Given the description of an element on the screen output the (x, y) to click on. 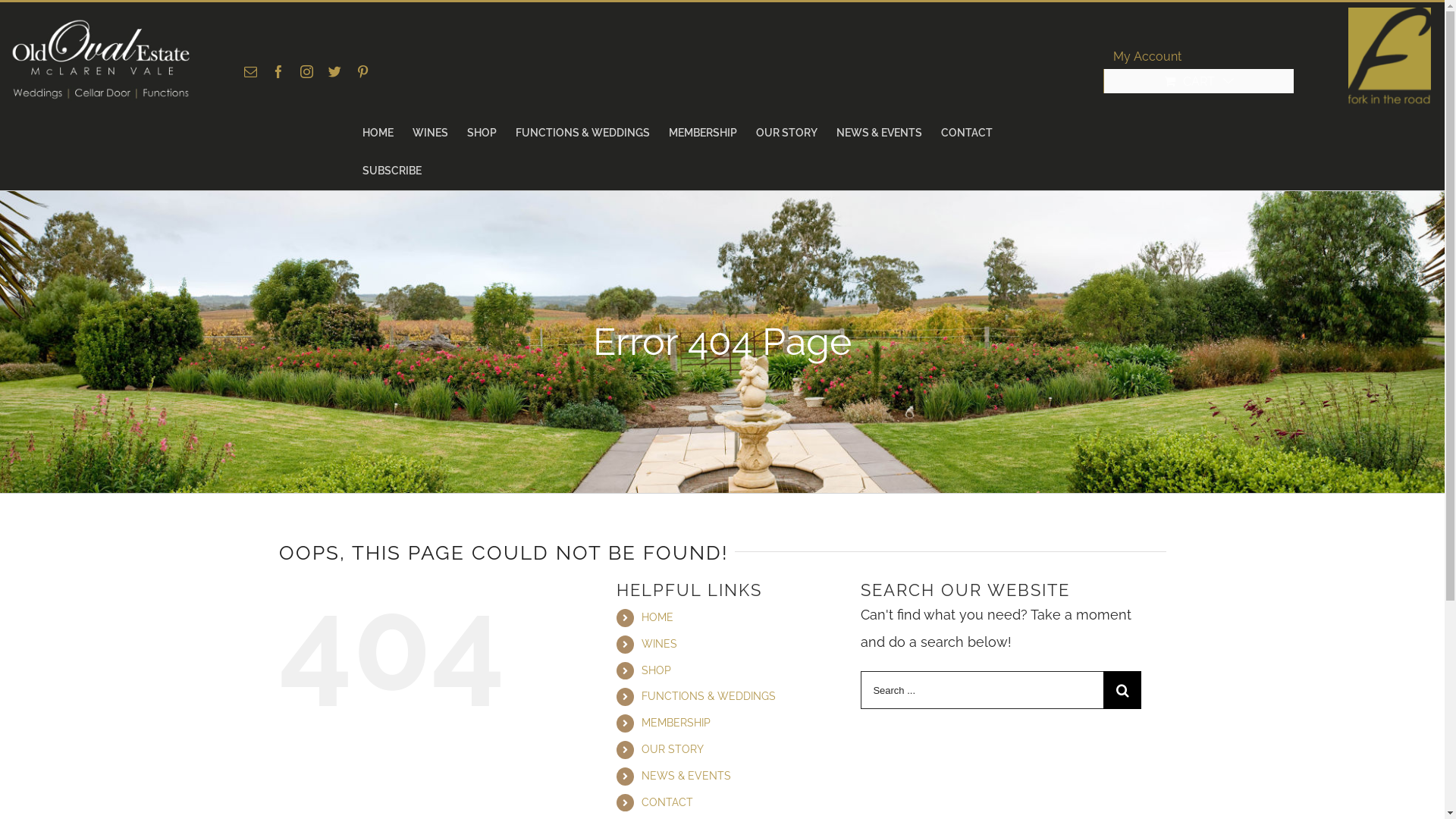
OUR STORY Element type: text (785, 132)
NEWS & EVENTS Element type: text (878, 132)
MEMBERSHIP Element type: text (702, 132)
SHOP Element type: text (481, 132)
CART Element type: text (1198, 81)
Facebook Element type: text (278, 71)
FUNCTIONS & WEDDINGS Element type: text (582, 132)
OUR STORY Element type: text (672, 749)
Pinterest Element type: text (362, 71)
My Account Element type: text (1147, 56)
SUBSCRIBE Element type: text (391, 170)
Twitter Element type: text (334, 71)
NEWS & EVENTS Element type: text (686, 775)
Log In Element type: text (1245, 212)
Email Element type: text (250, 71)
HOME Element type: text (377, 132)
Instagram Element type: text (306, 71)
MEMBERSHIP Element type: text (675, 722)
CONTACT Element type: text (965, 132)
FUNCTIONS & WEDDINGS Element type: text (708, 696)
WINES Element type: text (430, 132)
SHOP Element type: text (656, 670)
WINES Element type: text (659, 643)
CONTACT Element type: text (667, 802)
HOME Element type: text (657, 617)
